Given the description of an element on the screen output the (x, y) to click on. 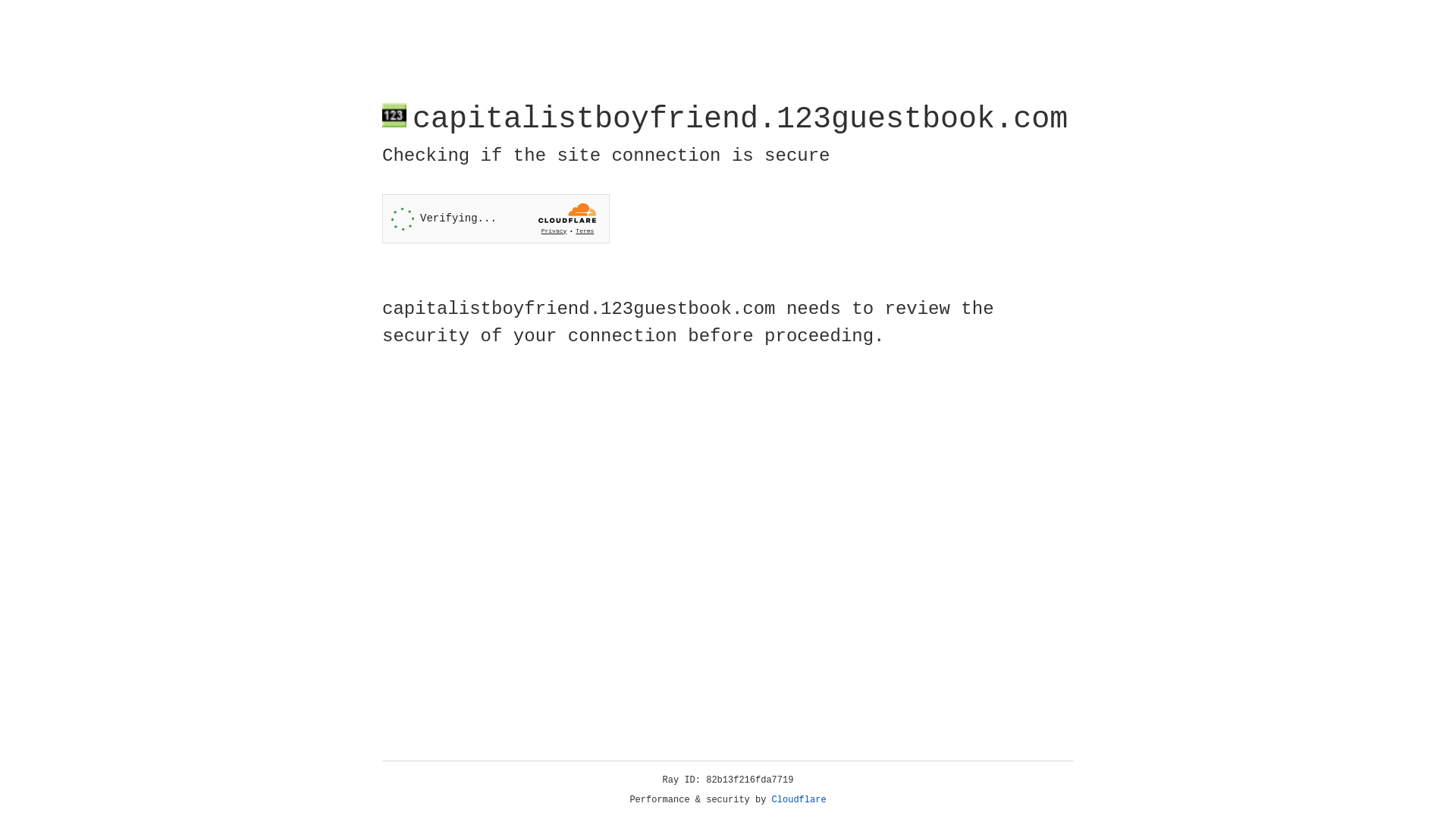
Widget containing a Cloudflare security challenge Element type: hover (495, 218)
Cloudflare Element type: text (798, 799)
